Given the description of an element on the screen output the (x, y) to click on. 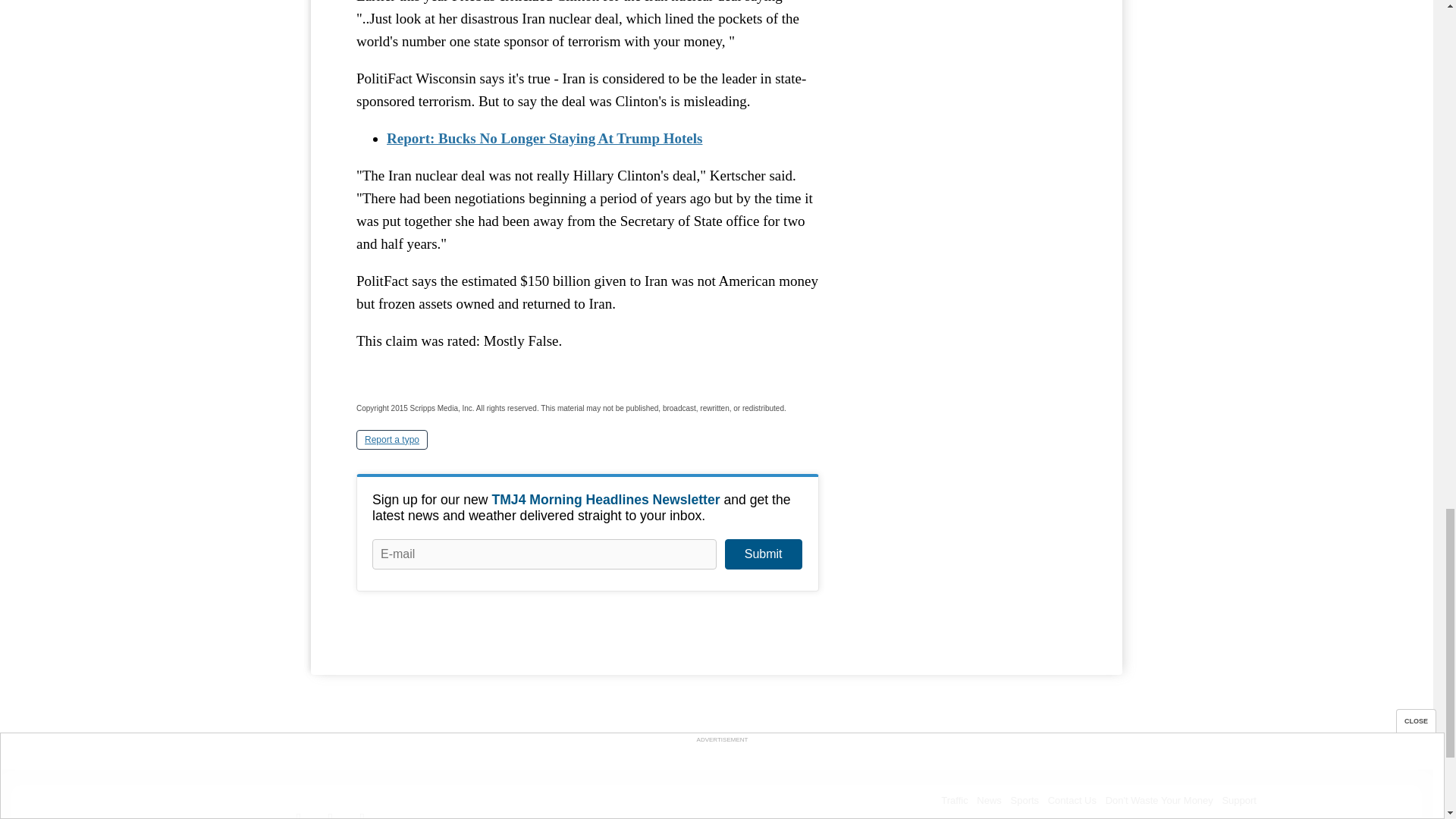
3rd party ad content (962, 30)
Submit (763, 553)
